Given the description of an element on the screen output the (x, y) to click on. 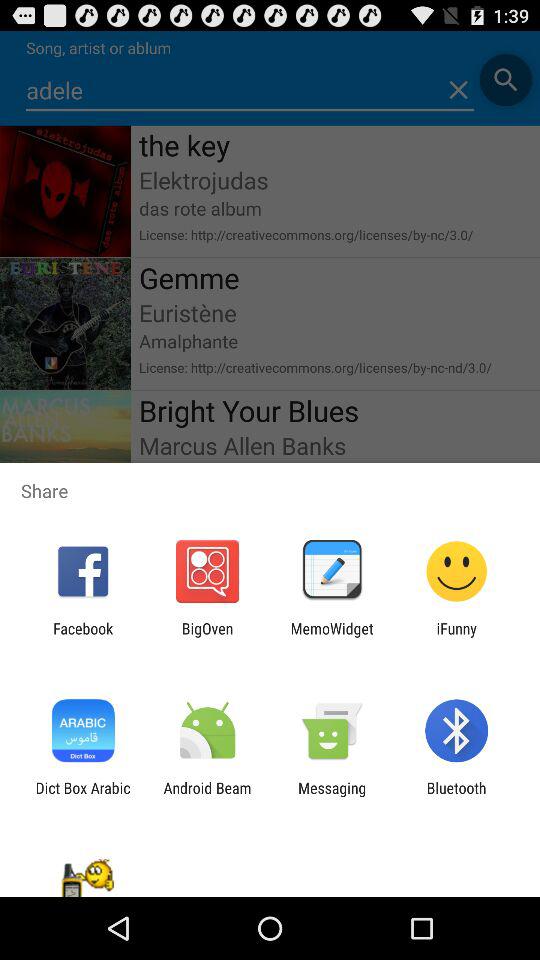
scroll to the messaging icon (332, 796)
